Given the description of an element on the screen output the (x, y) to click on. 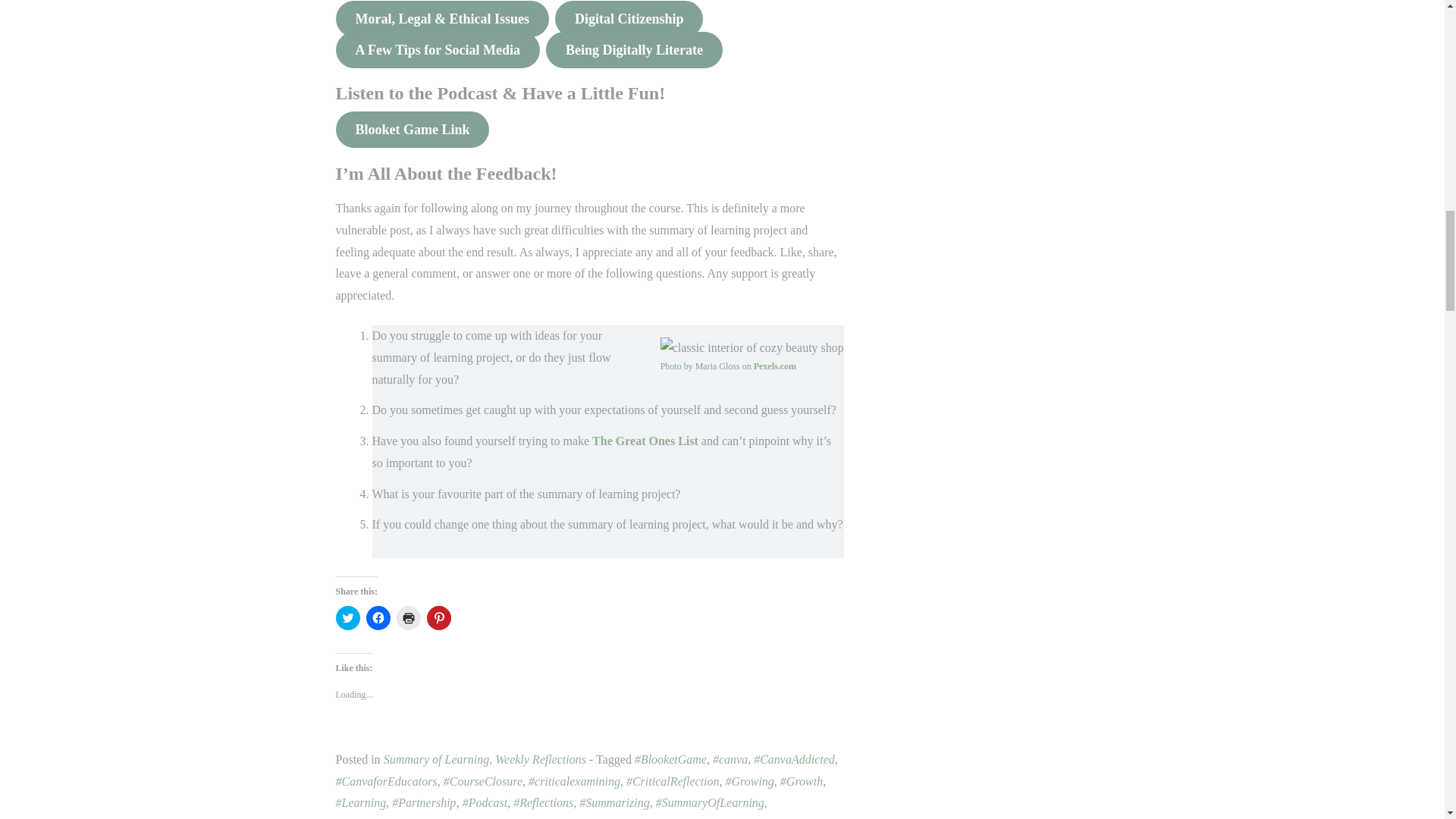
Click to print (408, 617)
Click to share on Facebook (377, 617)
Digital Citizenship (628, 18)
A Few Tips for Social Media (436, 49)
Click to share on Pinterest (437, 617)
Click to share on Twitter (346, 617)
